Given the description of an element on the screen output the (x, y) to click on. 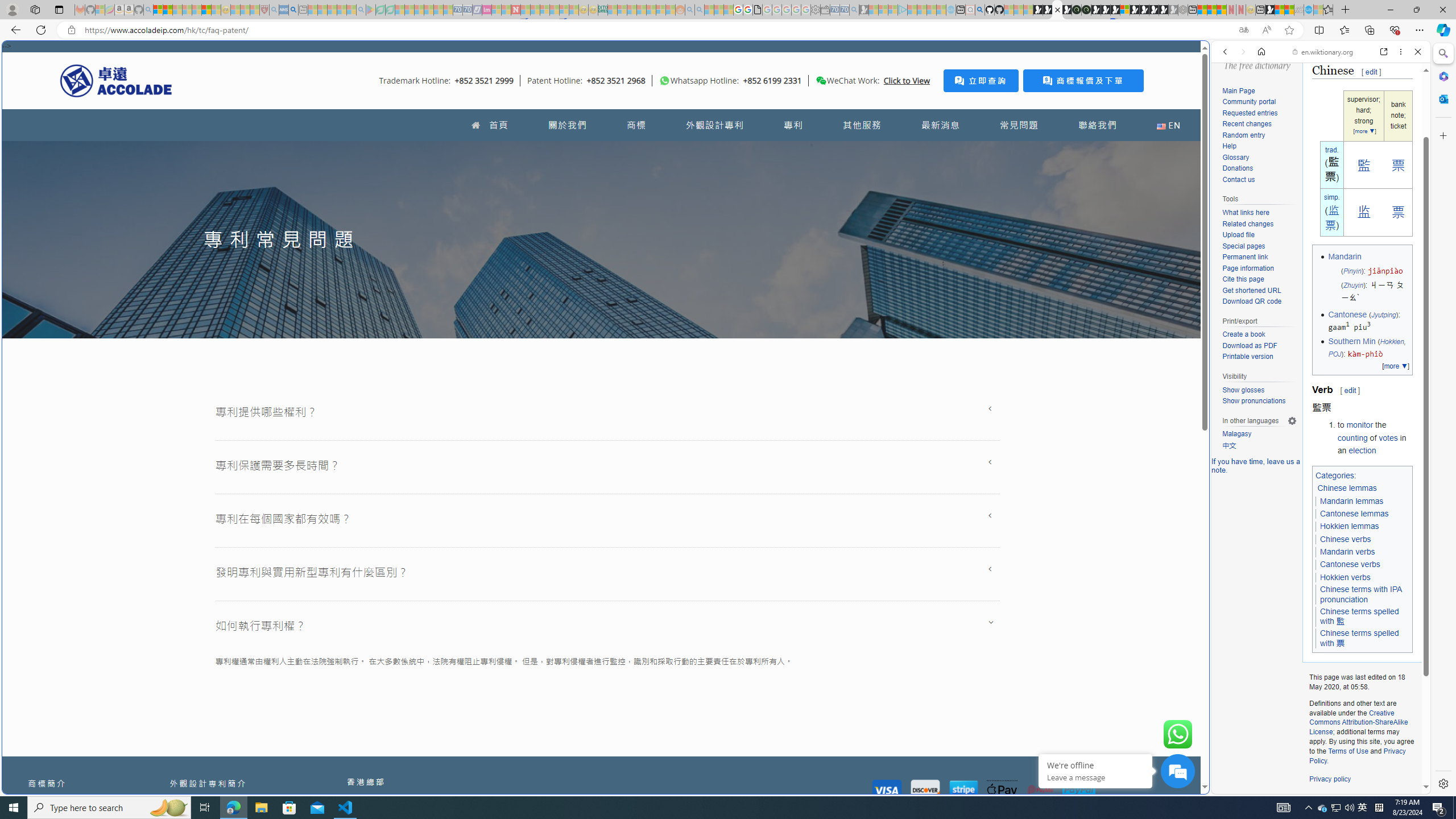
Cite this page (1259, 279)
Local - MSN - Sleeping (254, 9)
Class: b_serphb (1404, 130)
Glossary (1259, 157)
Hokkien verbs (1345, 577)
Download QR code (1259, 301)
Southern Min (1351, 341)
Chinese verbs (1345, 538)
